Given the description of an element on the screen output the (x, y) to click on. 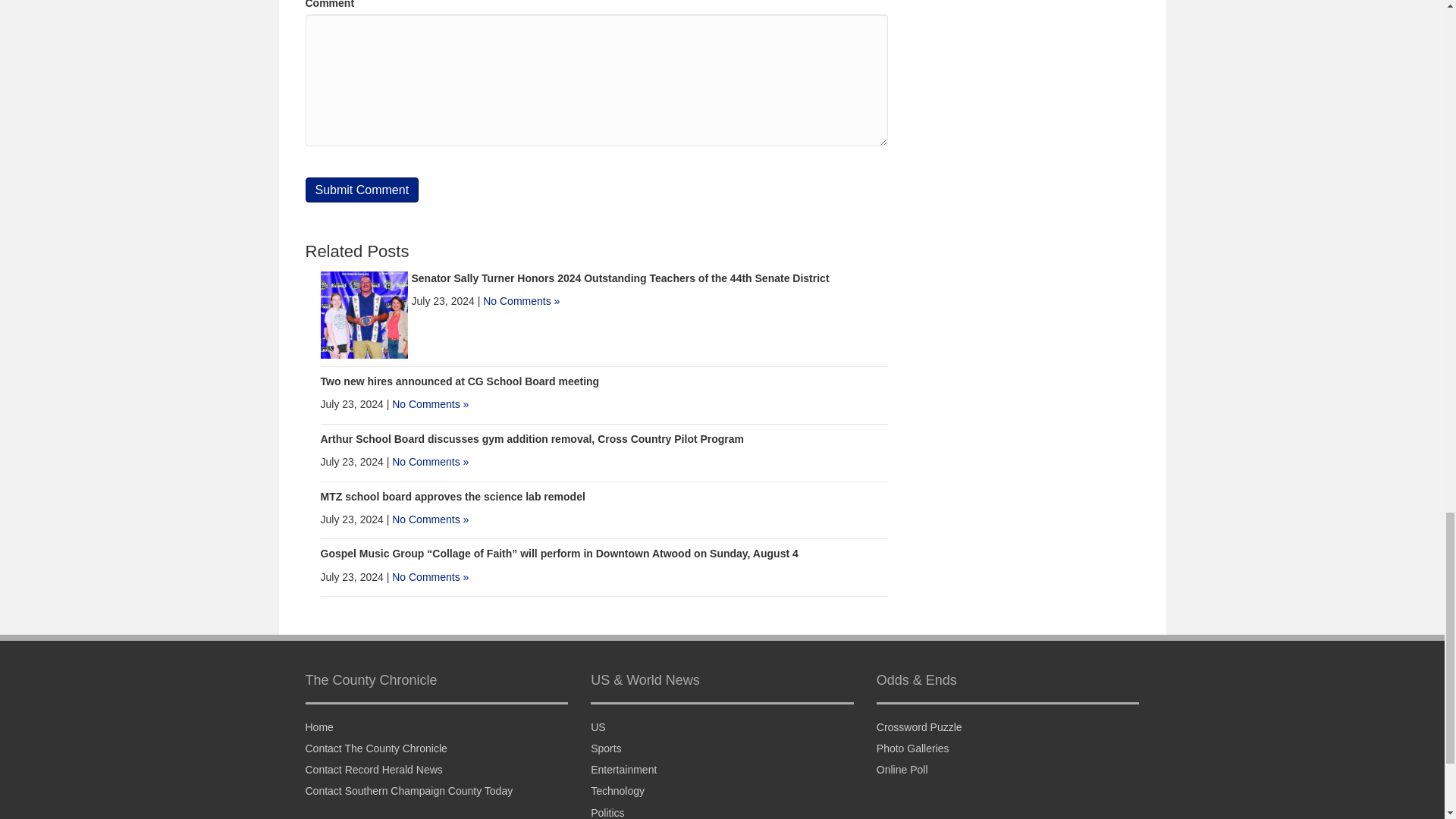
Submit Comment (361, 189)
Two new hires announced at CG School Board meeting (459, 381)
MTZ school board approves the science lab remodel (452, 496)
